Given the description of an element on the screen output the (x, y) to click on. 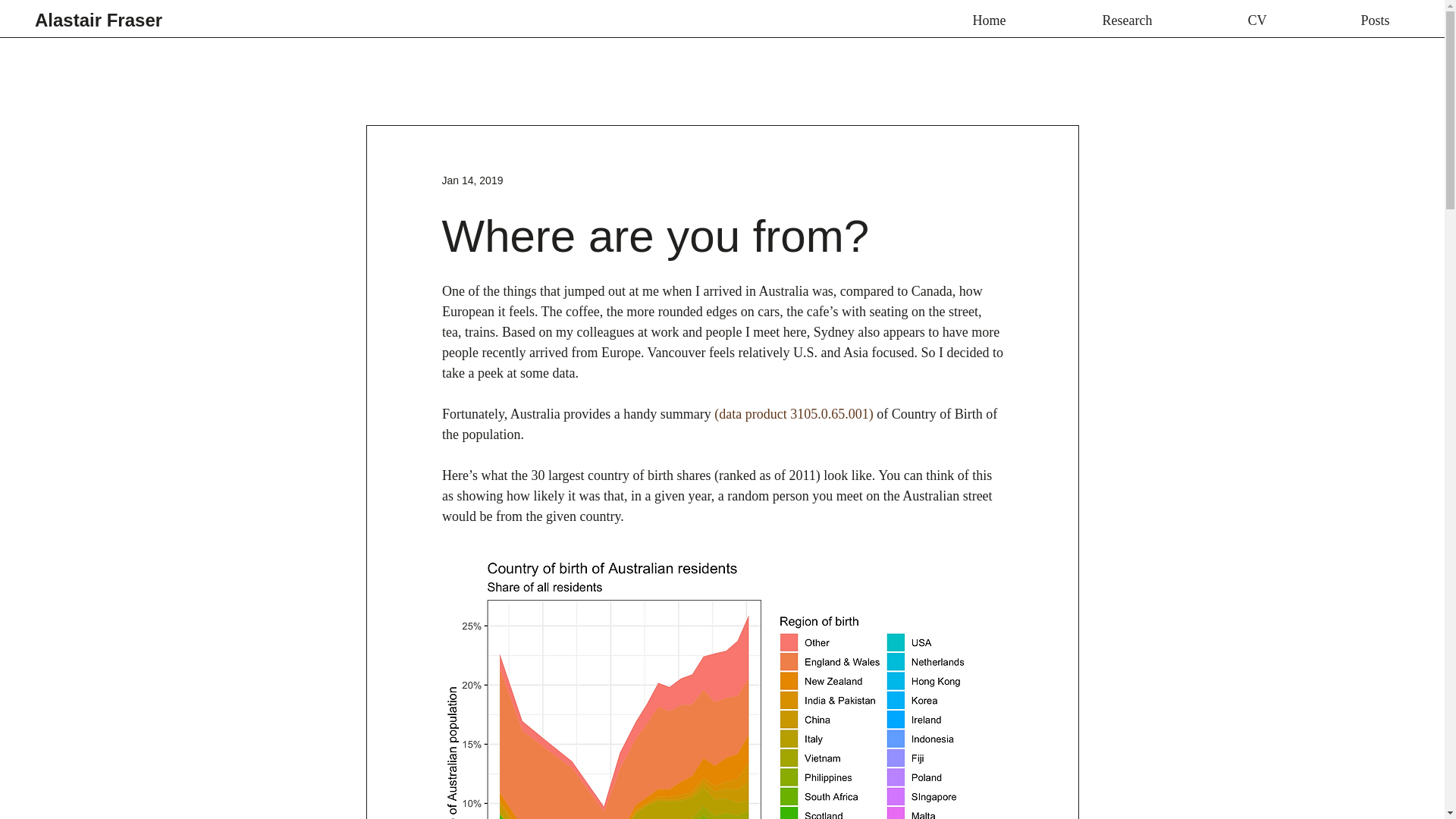
Research (1126, 20)
Alastair Fraser (97, 19)
Jan 14, 2019 (471, 180)
CV (1256, 20)
Posts (1374, 20)
Home (989, 20)
